Given the description of an element on the screen output the (x, y) to click on. 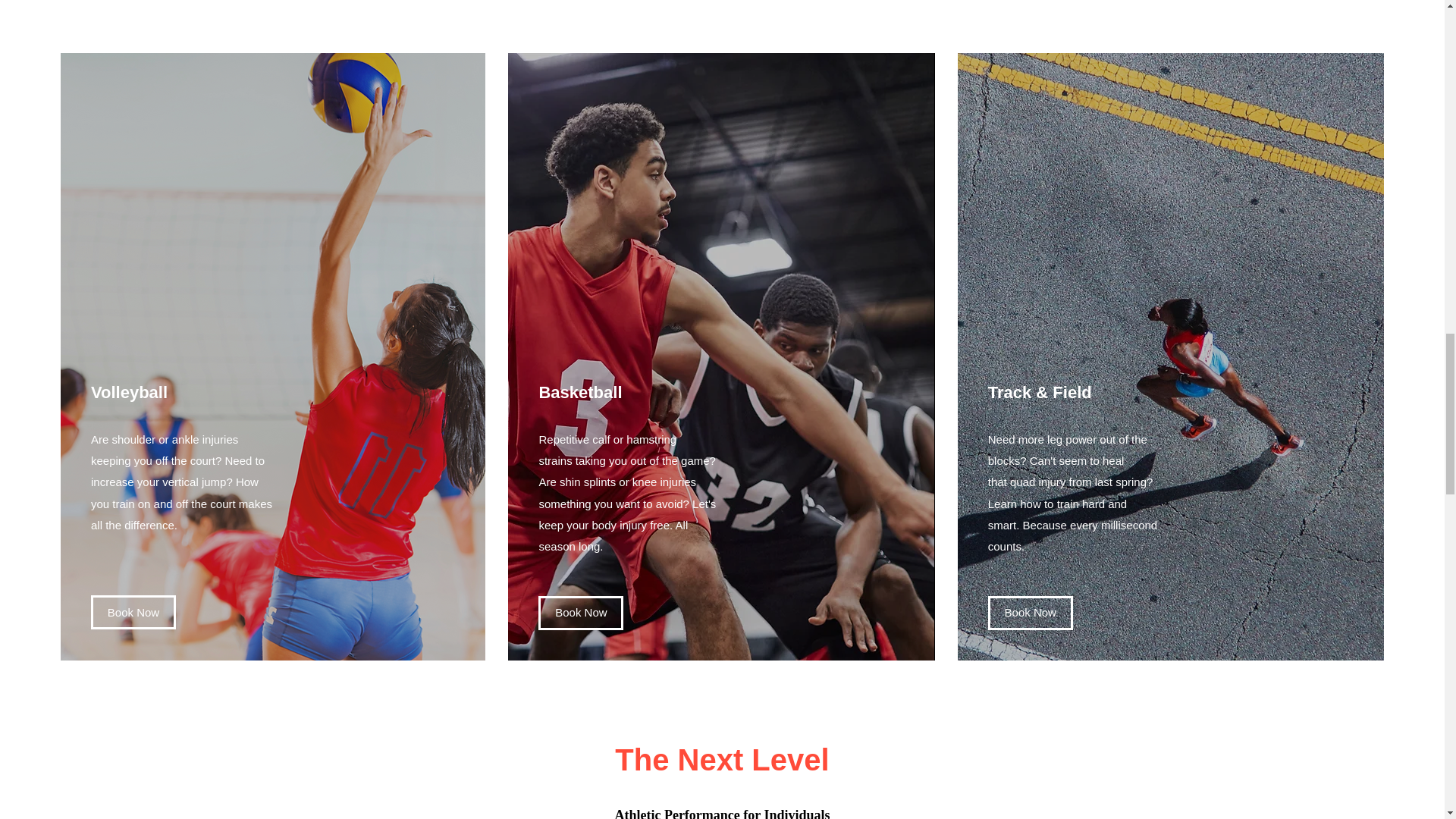
Book Now (1030, 612)
Book Now (580, 612)
Book Now (133, 612)
